Given the description of an element on the screen output the (x, y) to click on. 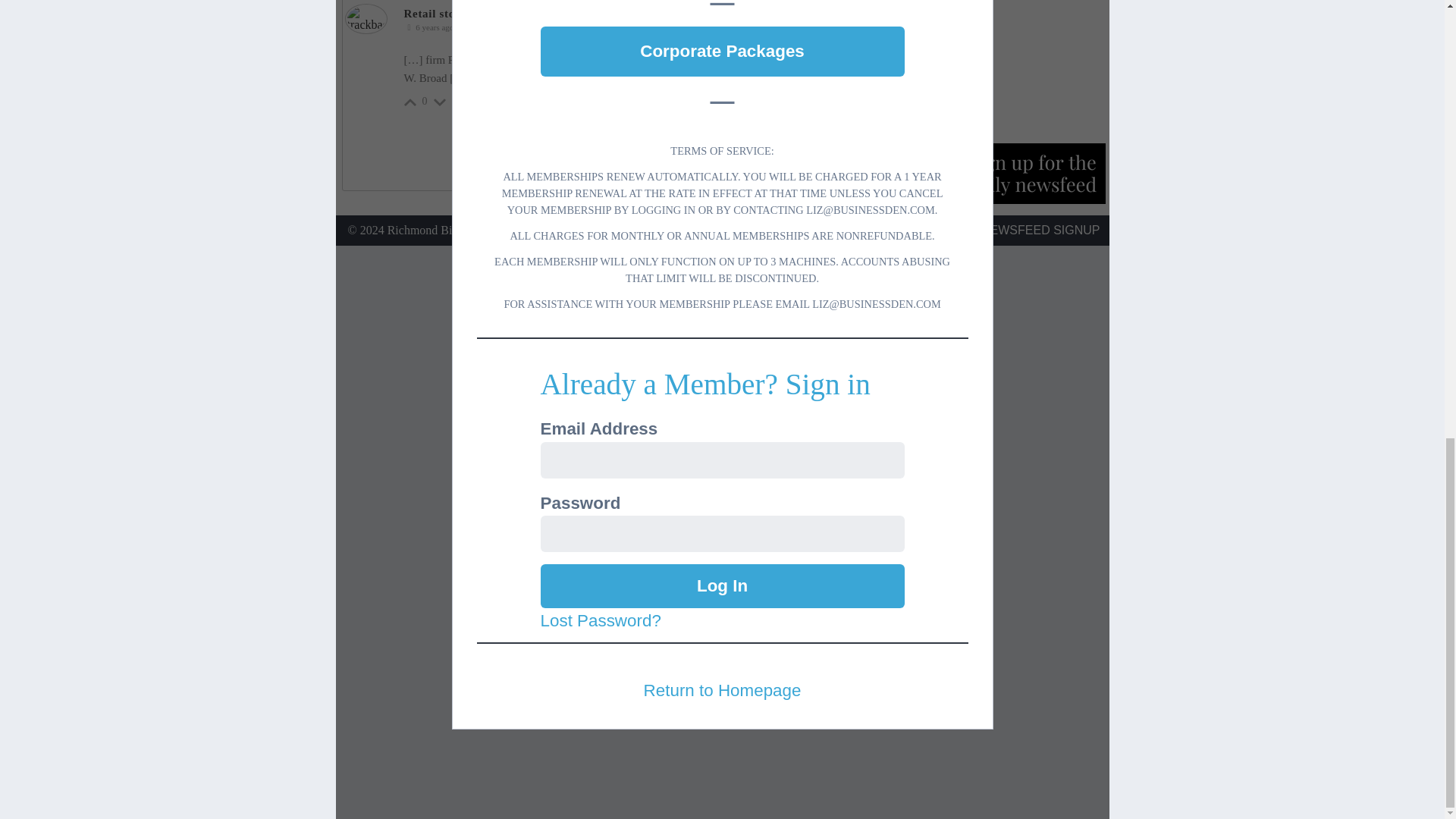
Log In (722, 586)
